Given the description of an element on the screen output the (x, y) to click on. 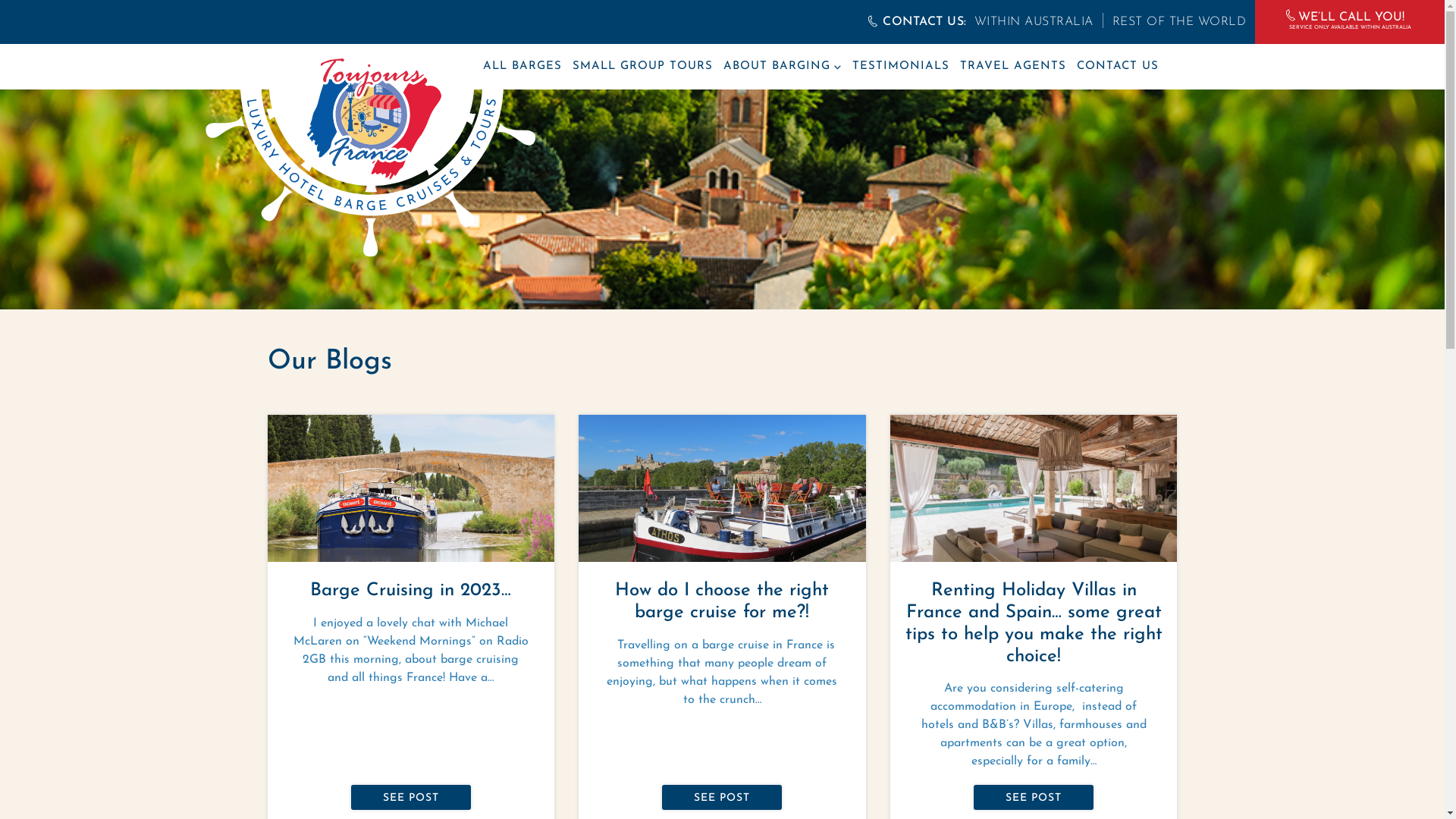
TESTIMONIALS Element type: text (900, 66)
ALL BARGES Element type: text (521, 66)
ABOUT BARGING Element type: text (782, 66)
TRAVEL AGENTS Element type: text (1013, 66)
CONTACT US:
WITHIN AUSTRALIA Element type: text (979, 21)
SMALL GROUP TOURS Element type: text (641, 66)
CONTACT US Element type: text (1117, 66)
REST OF THE WORLD Element type: text (1169, 21)
